Given the description of an element on the screen output the (x, y) to click on. 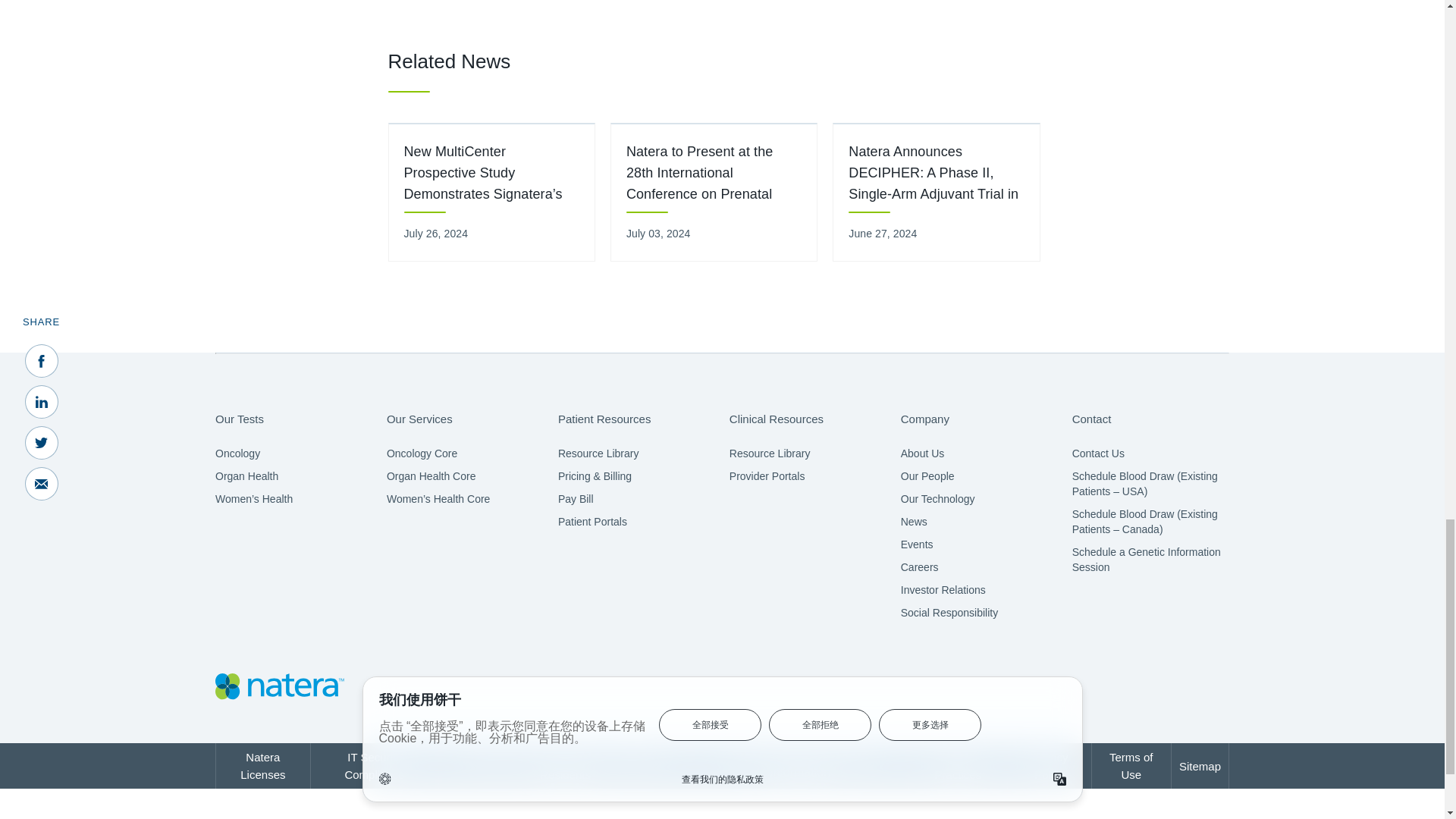
Link to Facebook page (1079, 687)
Link to LinkedIn page (1123, 687)
Link to Twitter page (1168, 687)
Link to Instagram page (1211, 687)
